Given the description of an element on the screen output the (x, y) to click on. 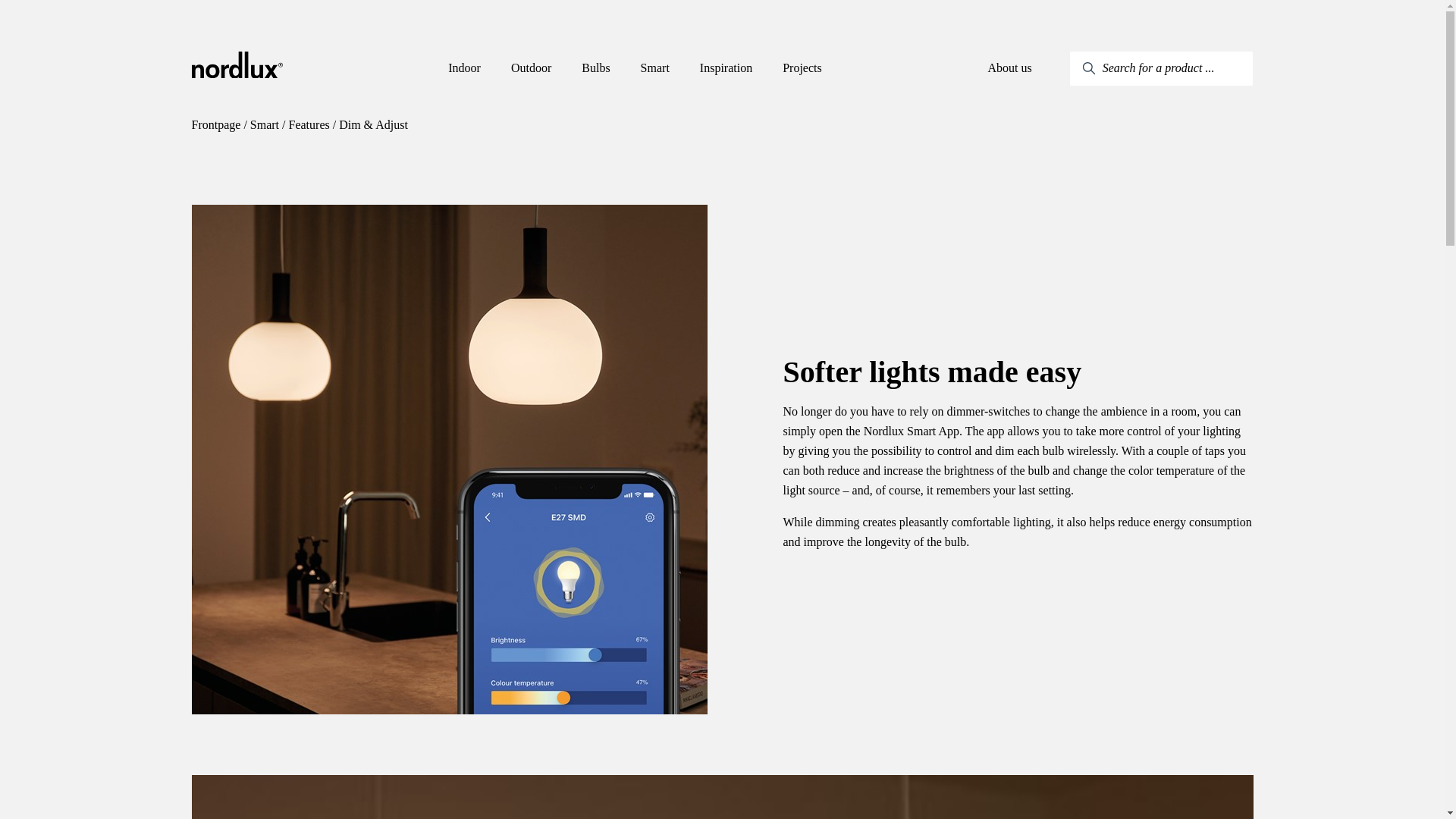
Outdoor (531, 68)
Bulbs (595, 68)
Inspiration (726, 68)
Indoor (464, 68)
Search for a product ... (1161, 68)
About us (1008, 68)
Smart (654, 68)
Projects (802, 68)
